Given the description of an element on the screen output the (x, y) to click on. 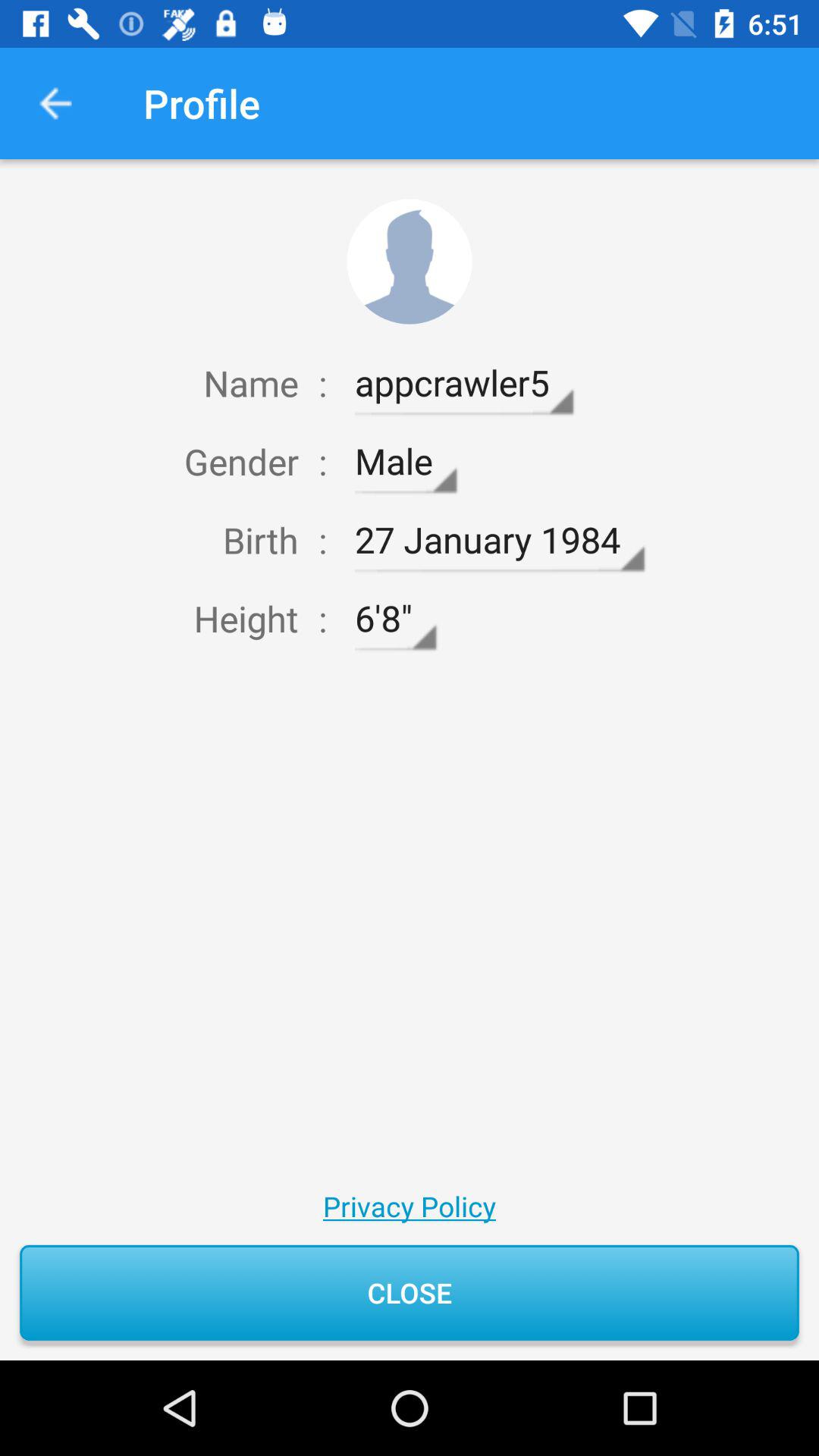
select icon above privacy policy (395, 618)
